Given the description of an element on the screen output the (x, y) to click on. 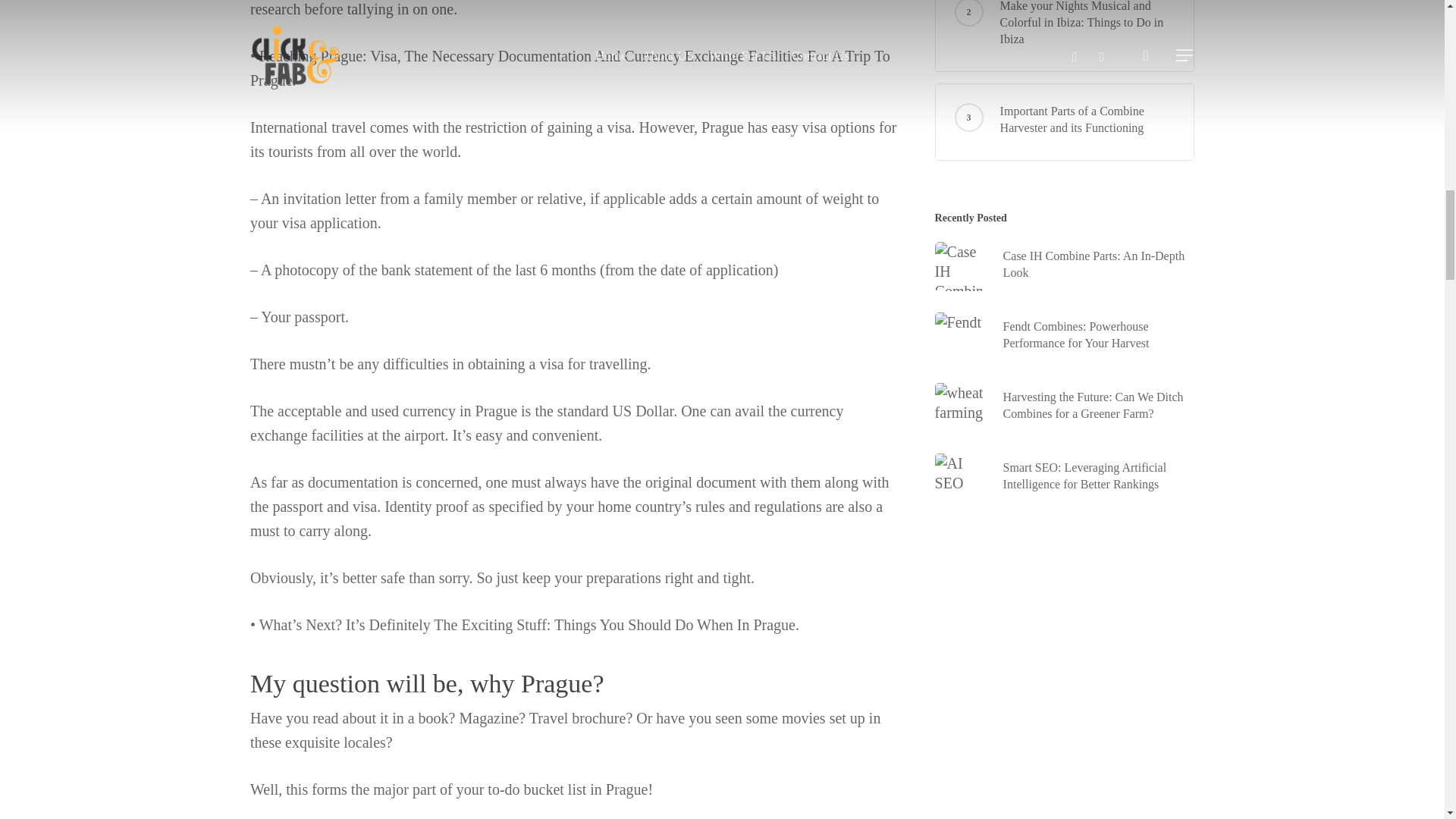
Fendt Combines: Powerhouse Performance for Your Harvest 5 (957, 322)
